Given the description of an element on the screen output the (x, y) to click on. 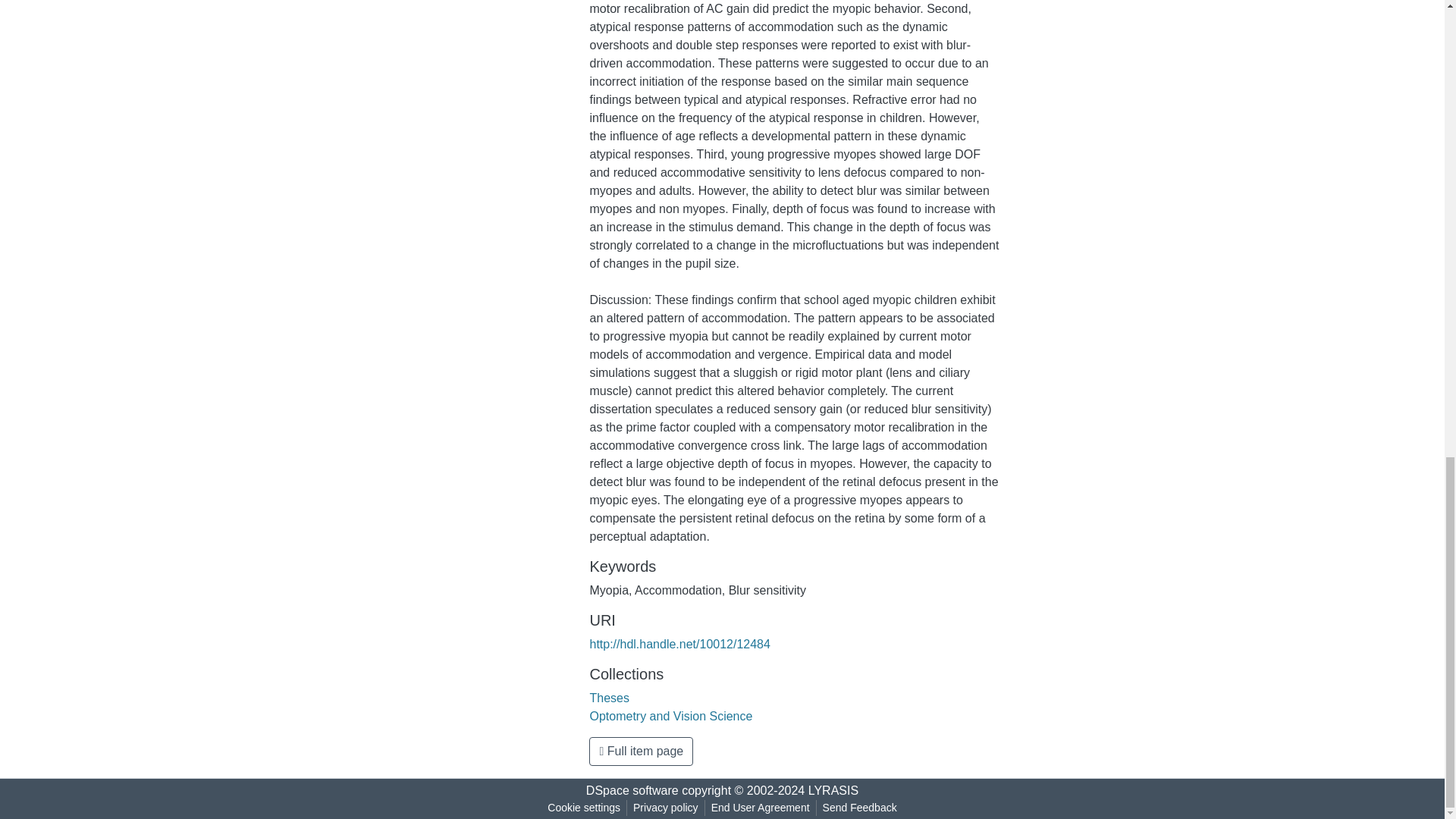
LYRASIS (833, 789)
Theses (608, 697)
Privacy policy (665, 807)
Full item page (641, 751)
DSpace software (632, 789)
Send Feedback (859, 807)
End User Agreement (759, 807)
Cookie settings (583, 807)
Optometry and Vision Science (670, 716)
